Given the description of an element on the screen output the (x, y) to click on. 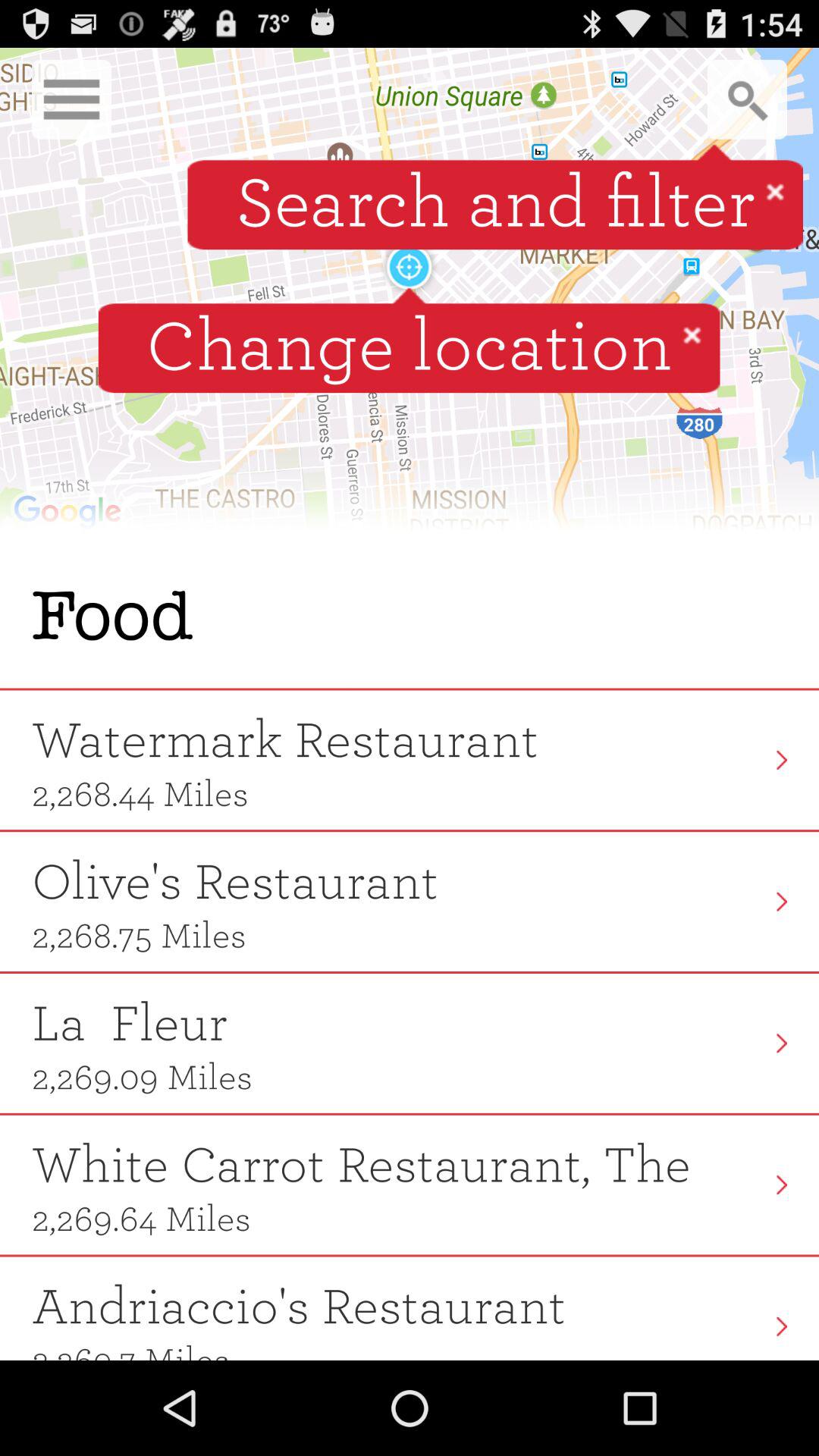
launch the item below search and filter icon (692, 334)
